Given the description of an element on the screen output the (x, y) to click on. 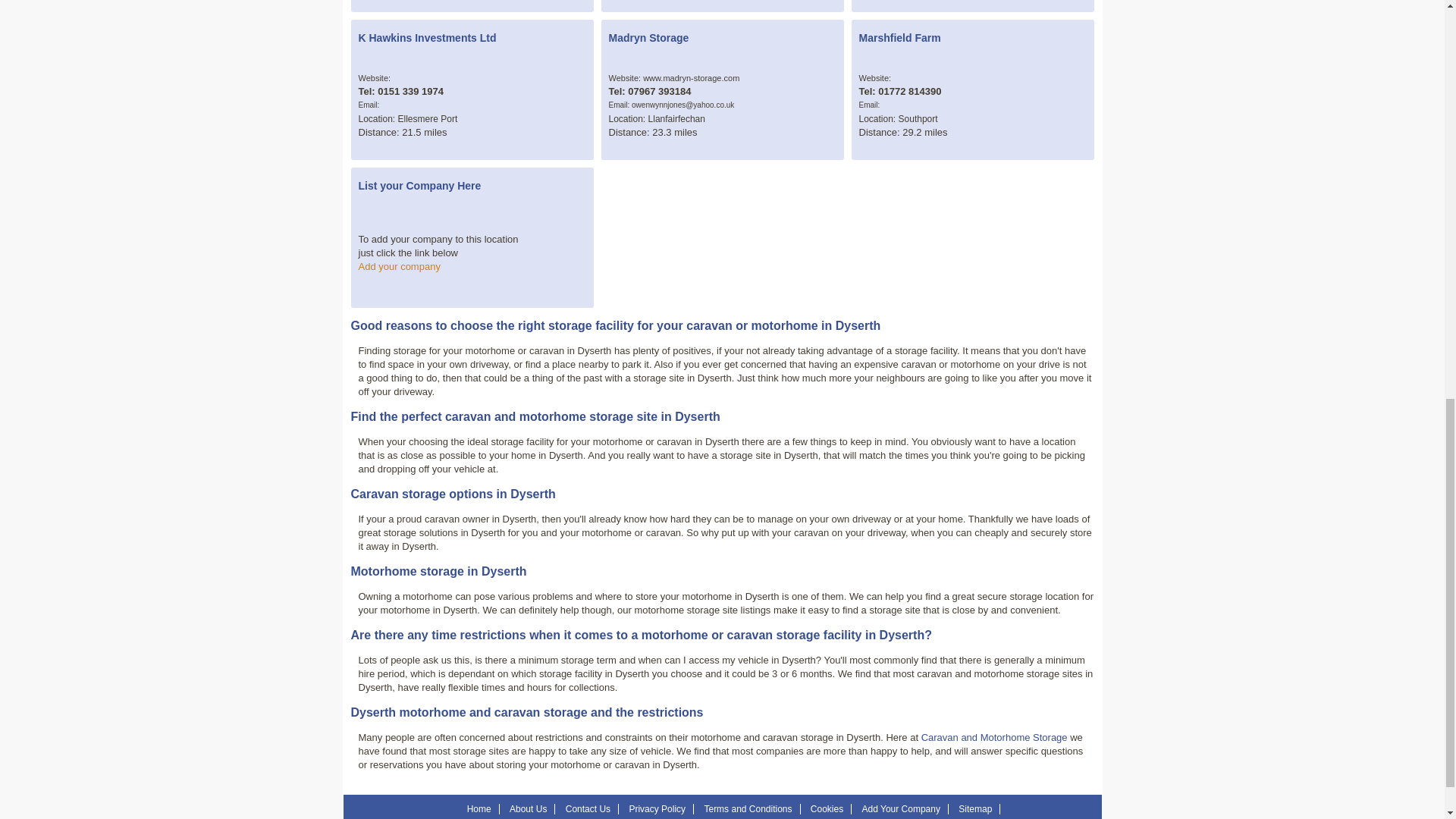
Privacy Policy (656, 808)
Add Your Company (900, 808)
About Us (528, 808)
Cookies (826, 808)
Home (479, 808)
Contact Us (588, 808)
Add your company (398, 266)
Terms and Conditions (747, 808)
Sitemap (974, 808)
